Given the description of an element on the screen output the (x, y) to click on. 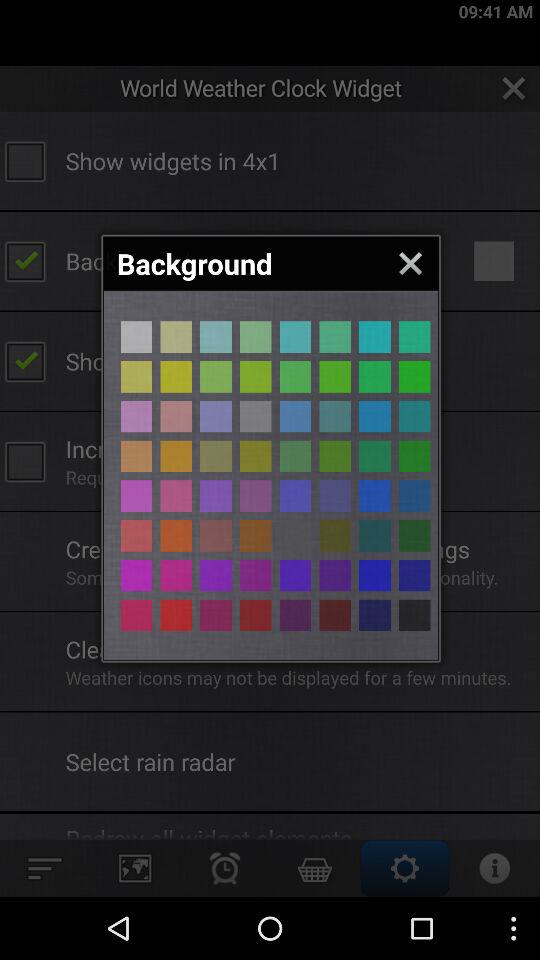
background color (374, 416)
